Given the description of an element on the screen output the (x, y) to click on. 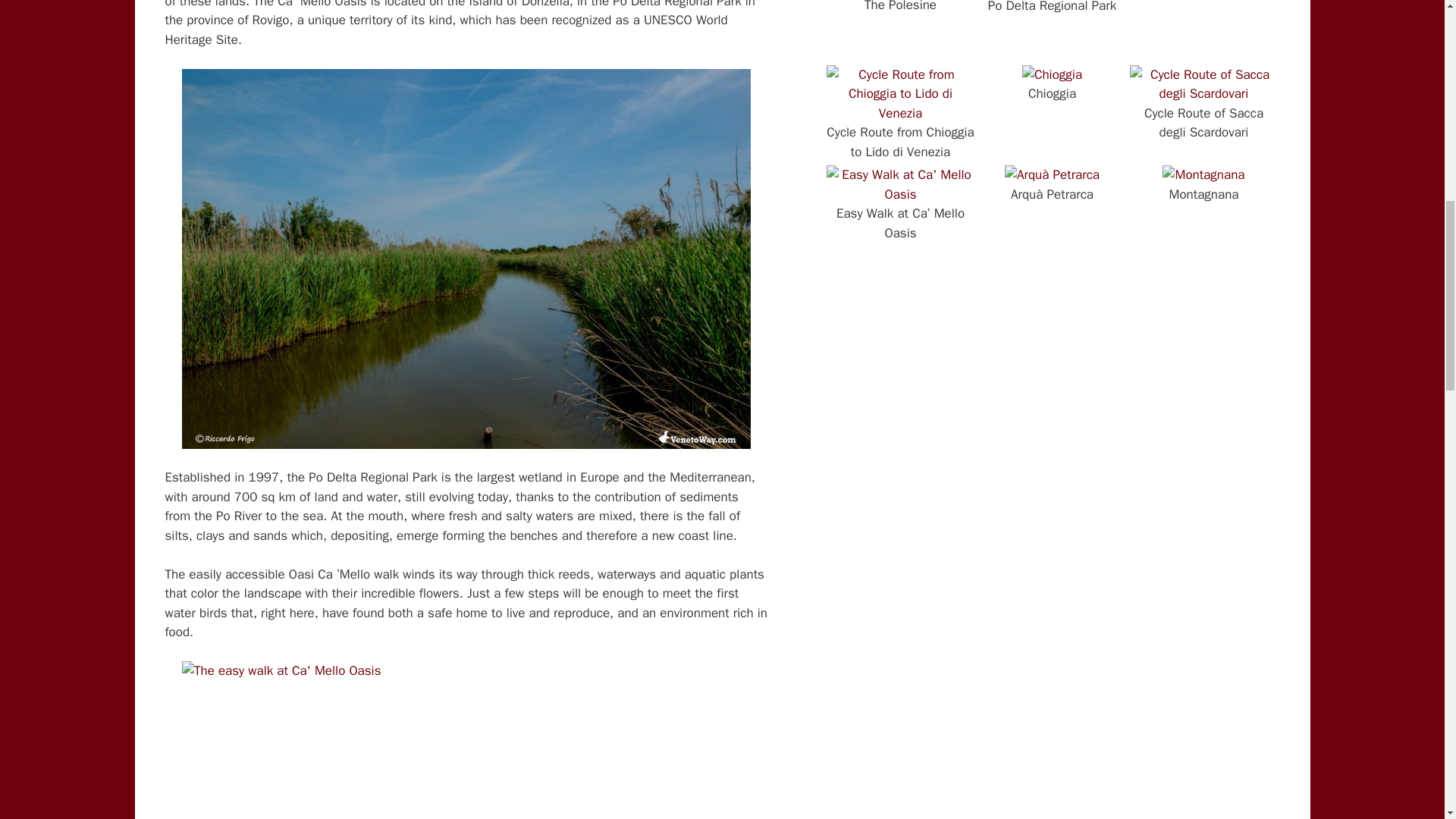
The easy walk at Ca' Mello Oasis  (466, 739)
